Given the description of an element on the screen output the (x, y) to click on. 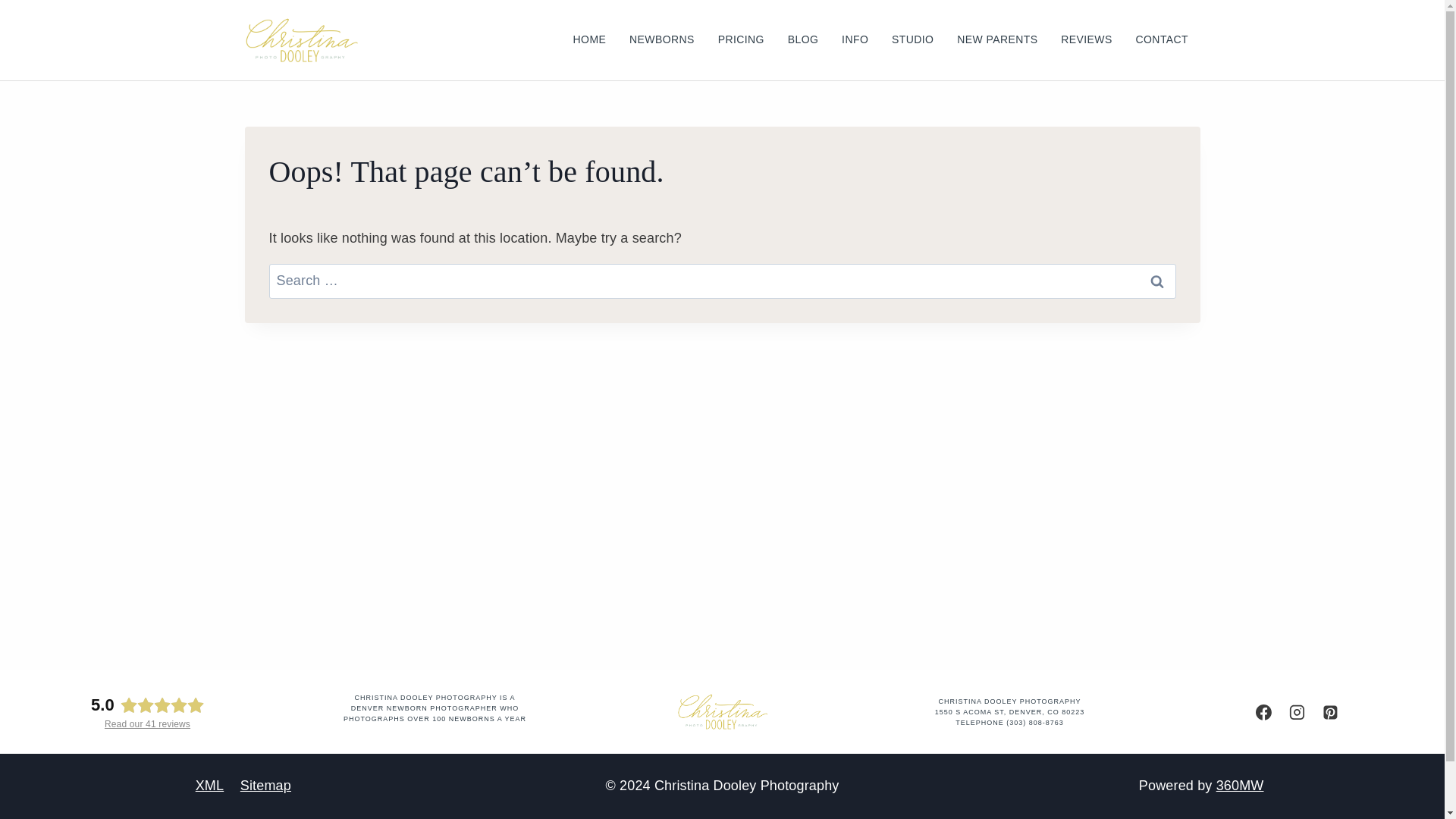
360MW (1239, 785)
HOME (588, 39)
BLOG (802, 39)
Sitemap (265, 786)
NEW PARENTS (996, 39)
INFO (854, 39)
STUDIO (912, 39)
XML (209, 786)
NEWBORNS (661, 39)
Search (1155, 280)
Search (1155, 280)
PRICING (741, 39)
Search (1155, 280)
REVIEWS (1086, 39)
CHRISTINA DOOLEY PHOTOGRAPHY (1008, 701)
